Given the description of an element on the screen output the (x, y) to click on. 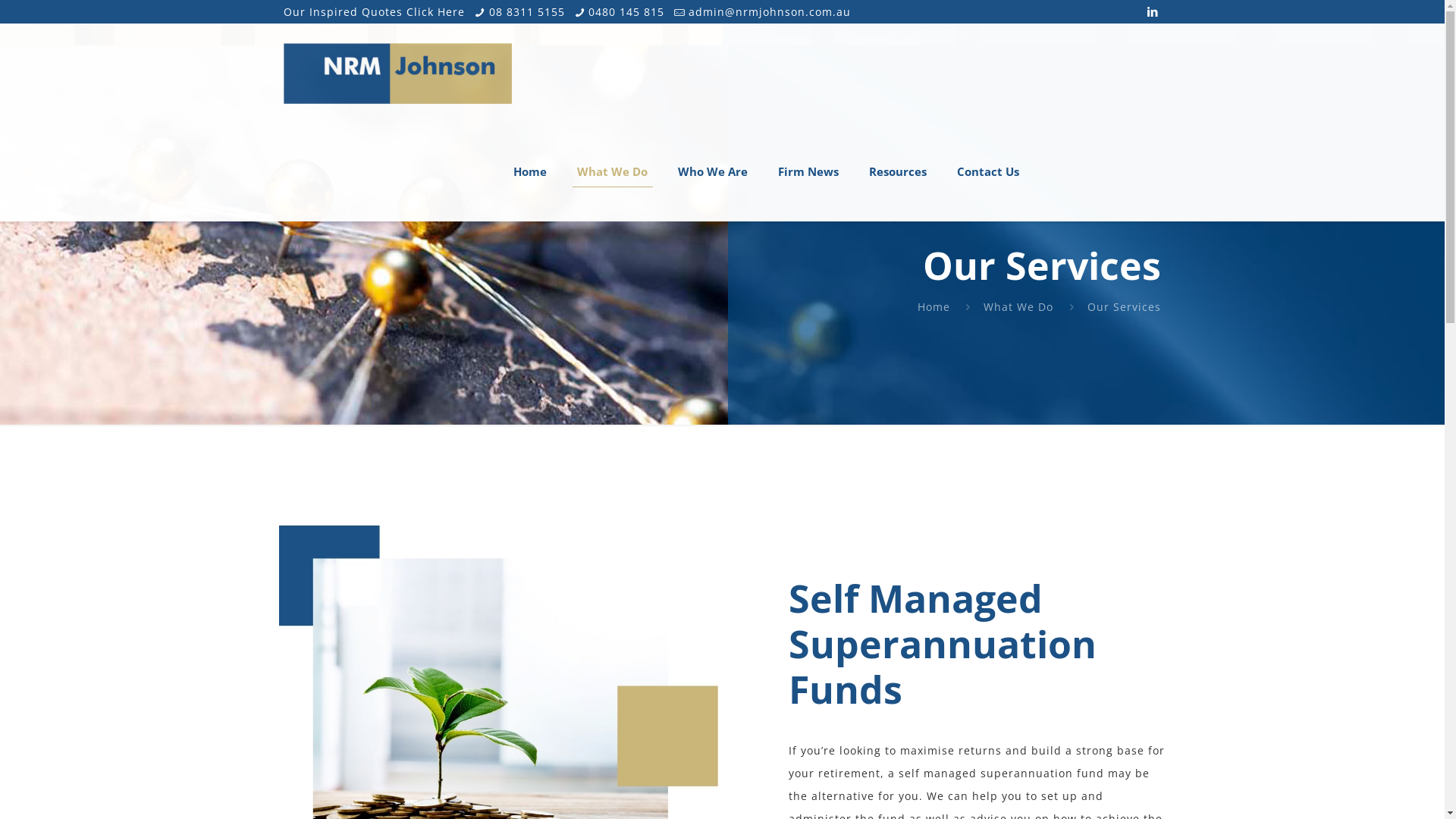
08 8311 5155 Element type: text (526, 11)
Who We Are Element type: text (712, 171)
What We Do Element type: text (1018, 306)
Firm News Element type: text (807, 171)
NRM Johnson Element type: hover (397, 72)
Home Element type: text (529, 171)
Resources Element type: text (897, 171)
admin@nrmjohnson.com.au Element type: text (769, 11)
0480 145 815 Element type: text (626, 11)
What We Do Element type: text (611, 171)
Click Here Element type: text (435, 11)
Contact Us Element type: text (987, 171)
LinkedIn Element type: hover (1153, 10)
Home Element type: text (933, 306)
